Given the description of an element on the screen output the (x, y) to click on. 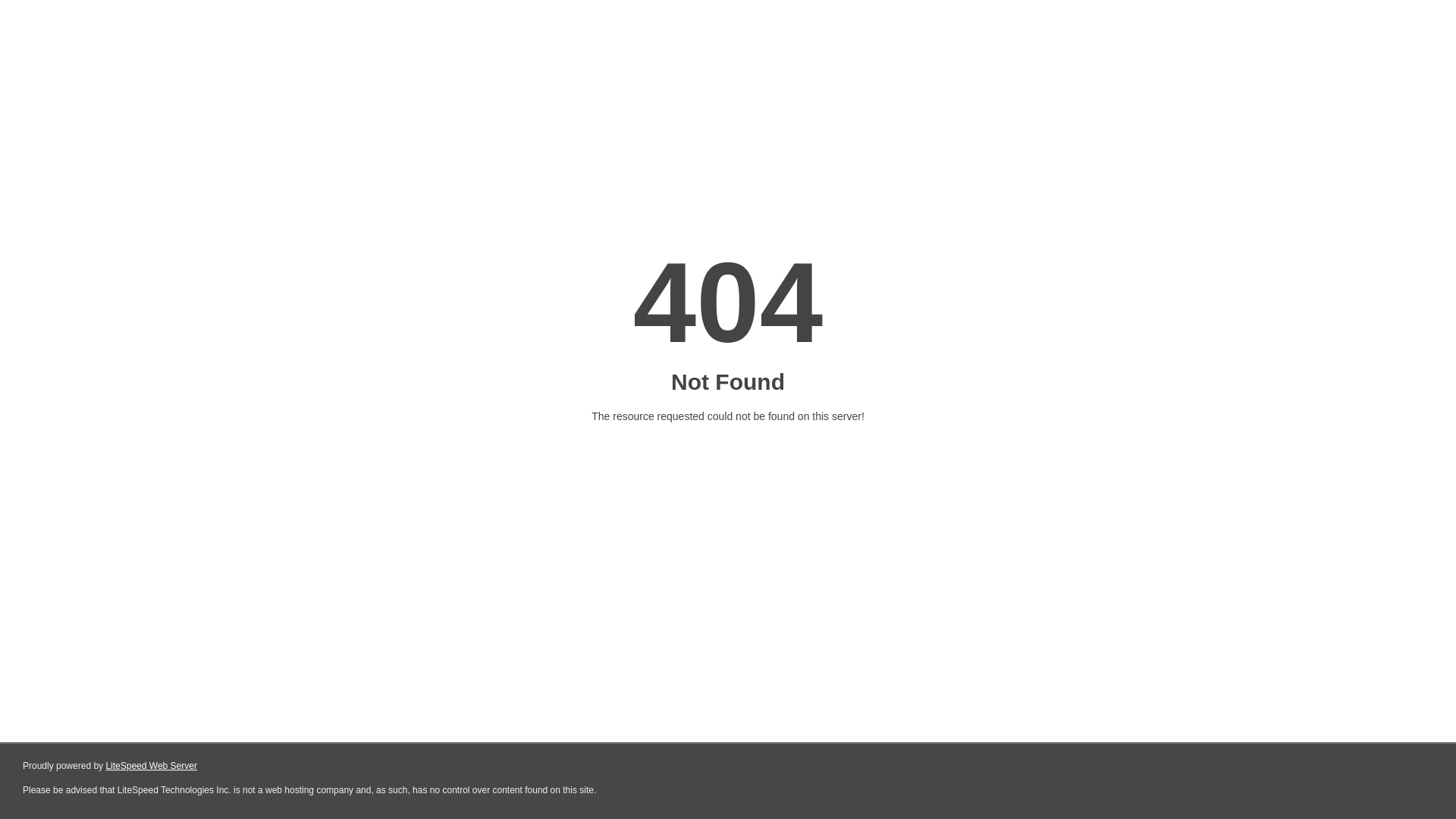
LiteSpeed Web Server Element type: text (151, 765)
